Given the description of an element on the screen output the (x, y) to click on. 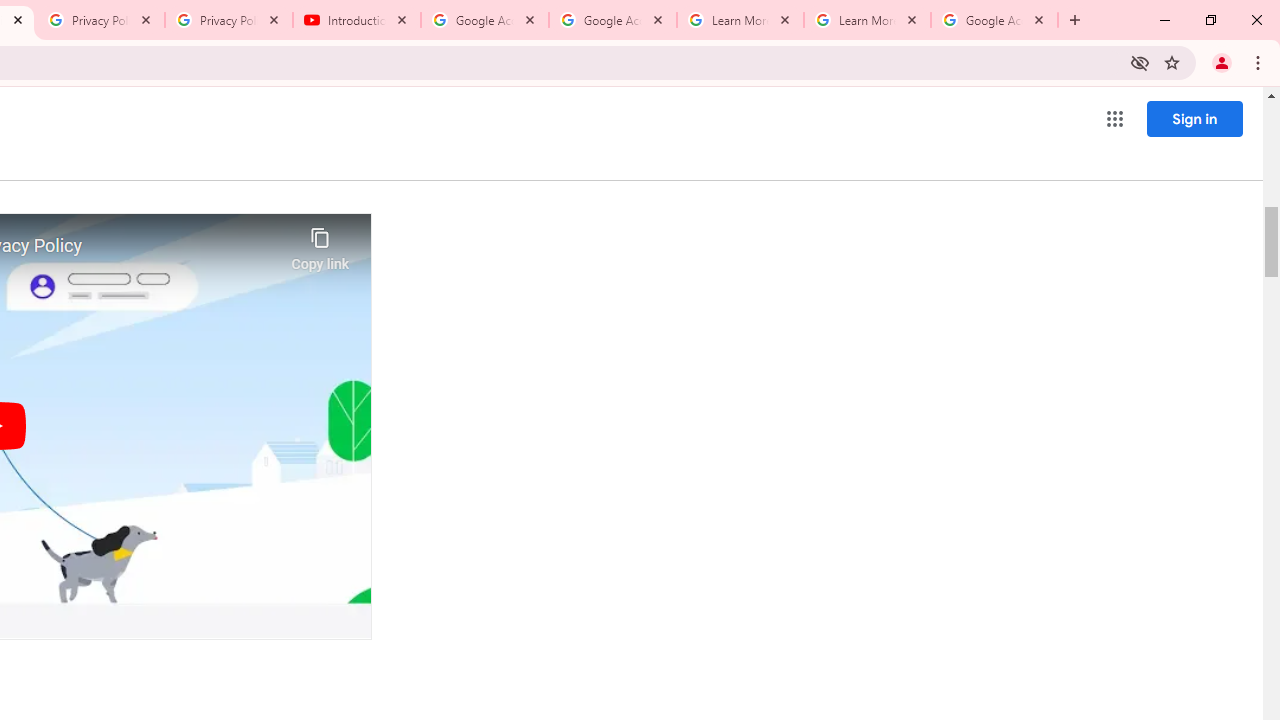
Google Account (994, 20)
Google Account Help (485, 20)
Third-party cookies blocked (1139, 62)
Introduction | Google Privacy Policy - YouTube (357, 20)
You (1221, 62)
Google Account Help (613, 20)
